Given the description of an element on the screen output the (x, y) to click on. 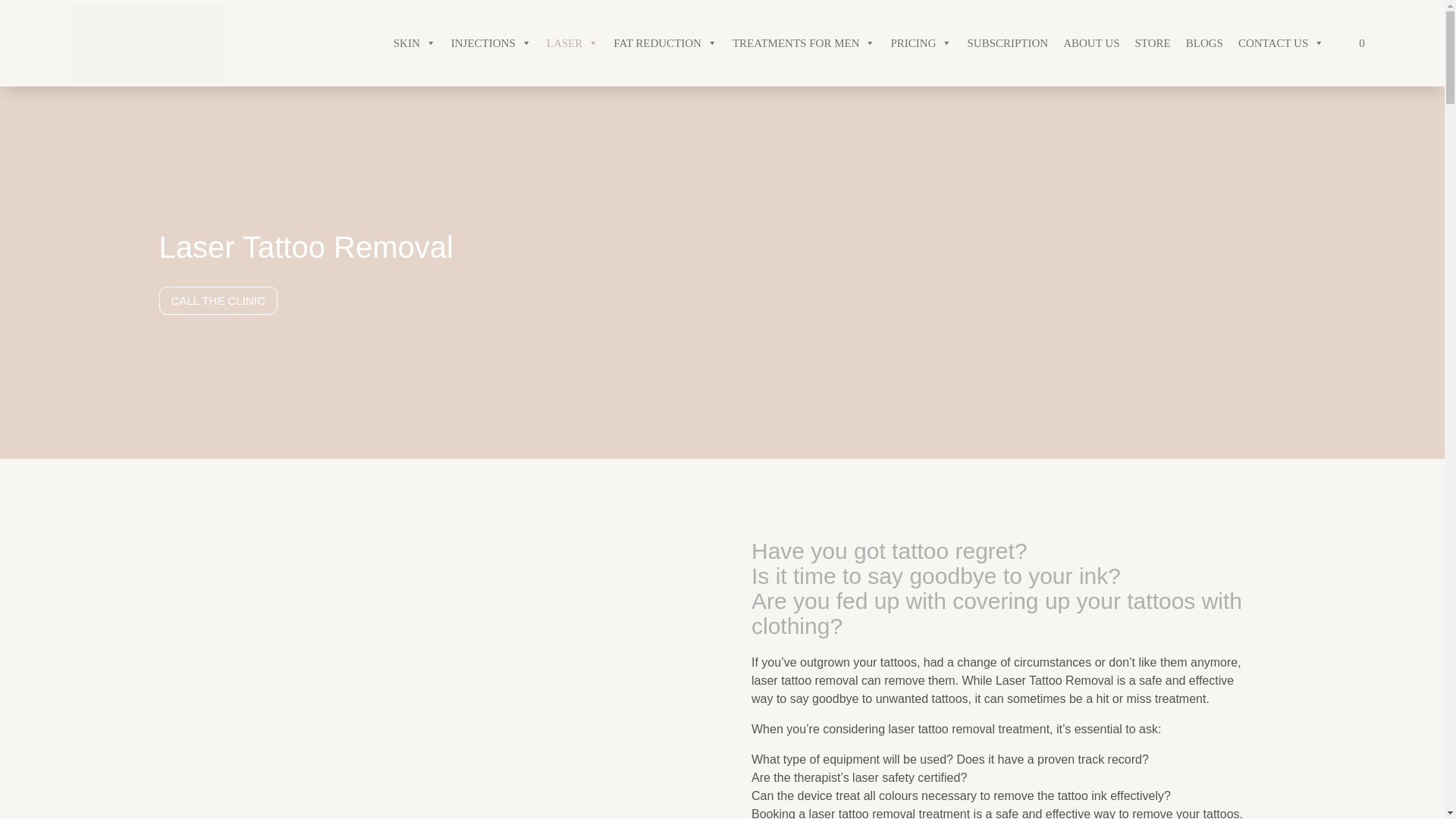
victoriancosmetic-logo (147, 43)
